Given the description of an element on the screen output the (x, y) to click on. 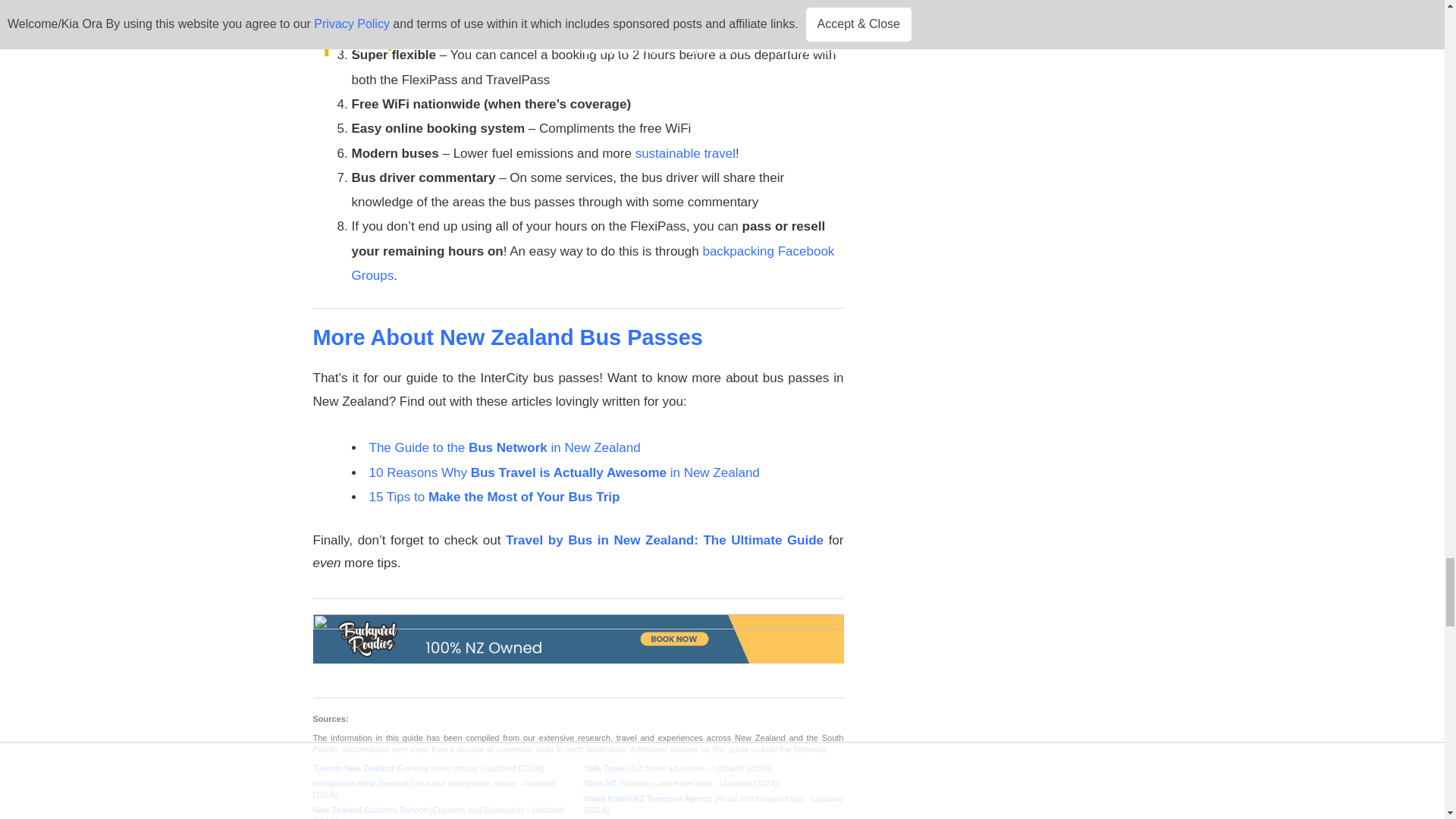
3rd party ad content (578, 648)
